Given the description of an element on the screen output the (x, y) to click on. 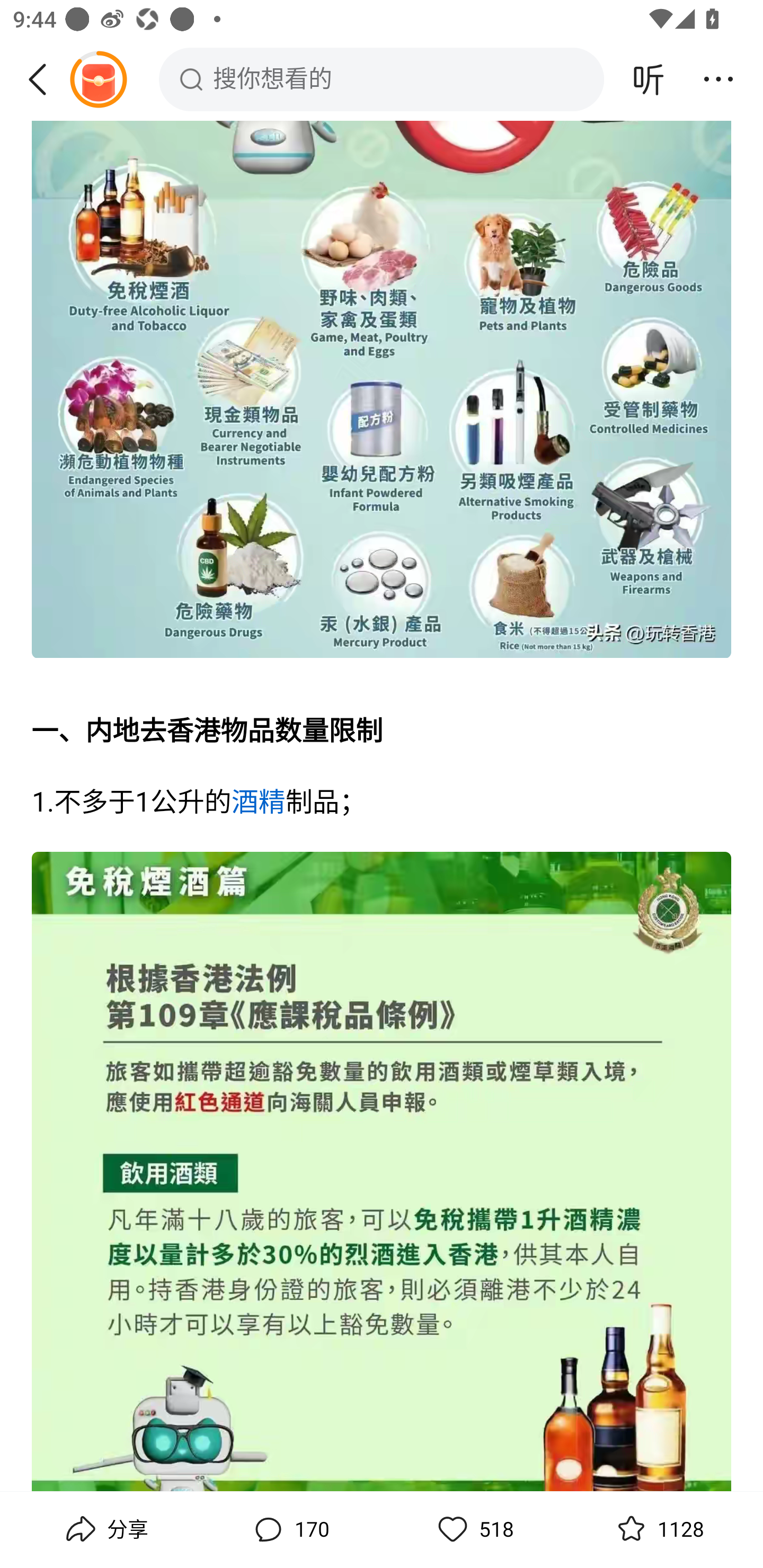
返回 (44, 78)
听头条 (648, 78)
更多操作 (718, 78)
搜你想看的 搜索框，搜你想看的 (381, 79)
阅读赚金币 (98, 79)
图片，点击识别内容 (381, 391)
酒精 (258, 804)
图片，点击识别内容 (381, 1171)
分享 (104, 1529)
评论,170 170 (288, 1529)
收藏,1128 1128 (658, 1529)
